Given the description of an element on the screen output the (x, y) to click on. 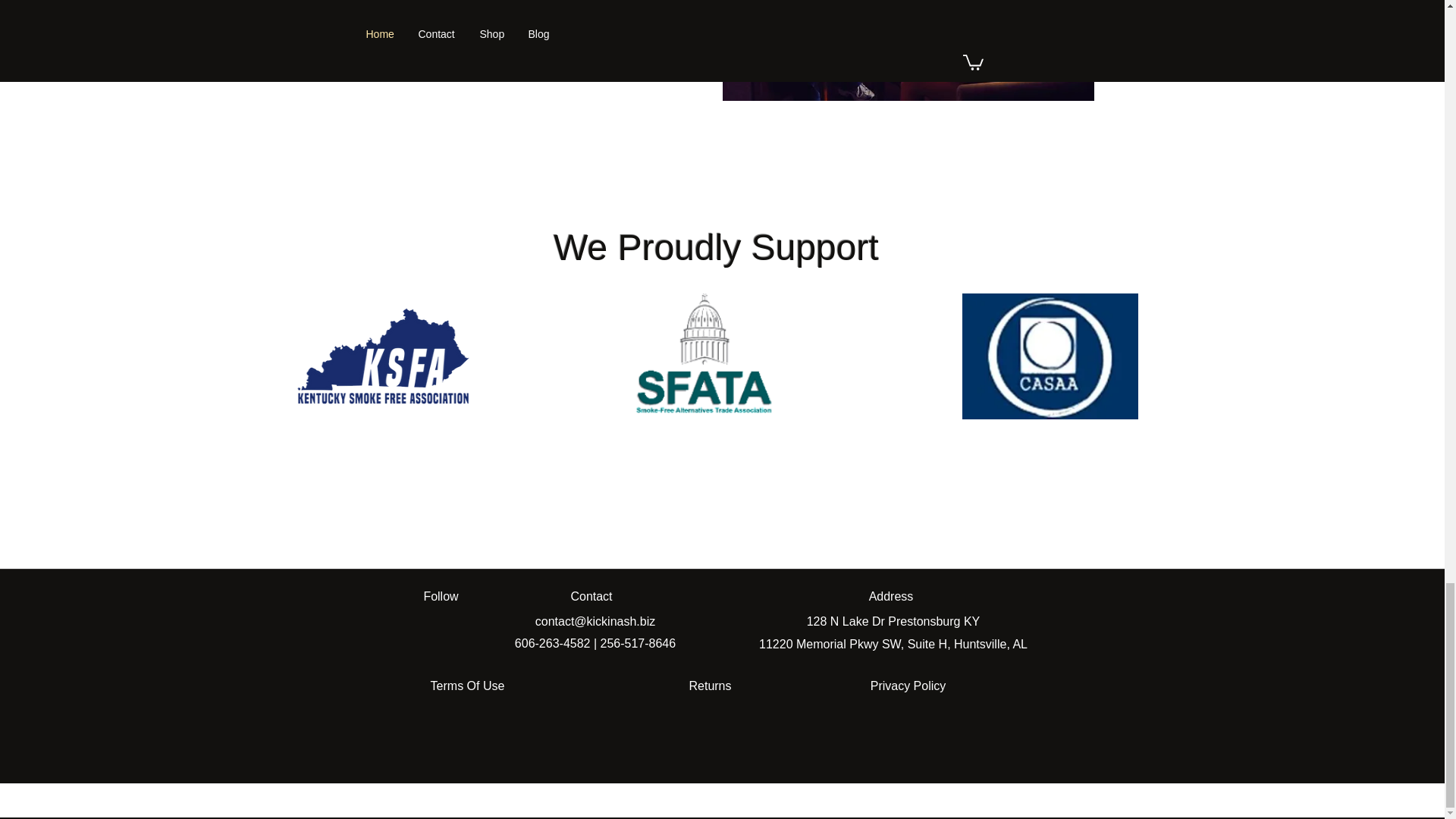
Privacy Policy (906, 685)
download.jpg (1050, 356)
Returns (710, 685)
Terms Of Use (467, 685)
unnamed.png (702, 356)
